Given the description of an element on the screen output the (x, y) to click on. 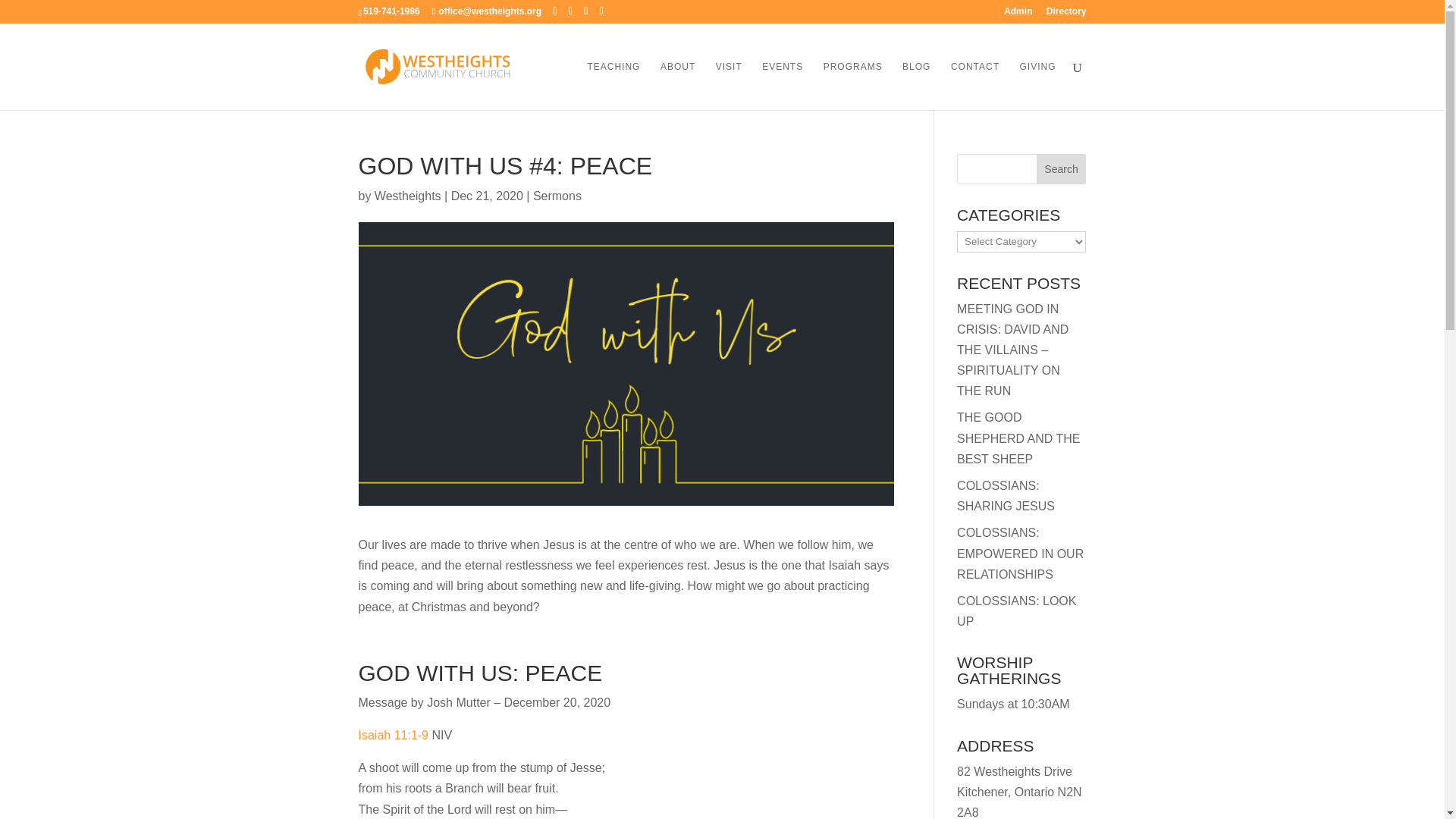
Isaiah 11:1-9 (393, 735)
Westheights (407, 195)
Posts by Westheights (407, 195)
TEACHING (613, 85)
Search (1061, 168)
Sermons (556, 195)
Directory (1066, 14)
Search (1061, 168)
PROGRAMS (853, 85)
CONTACT (974, 85)
Admin (1018, 14)
